Given the description of an element on the screen output the (x, y) to click on. 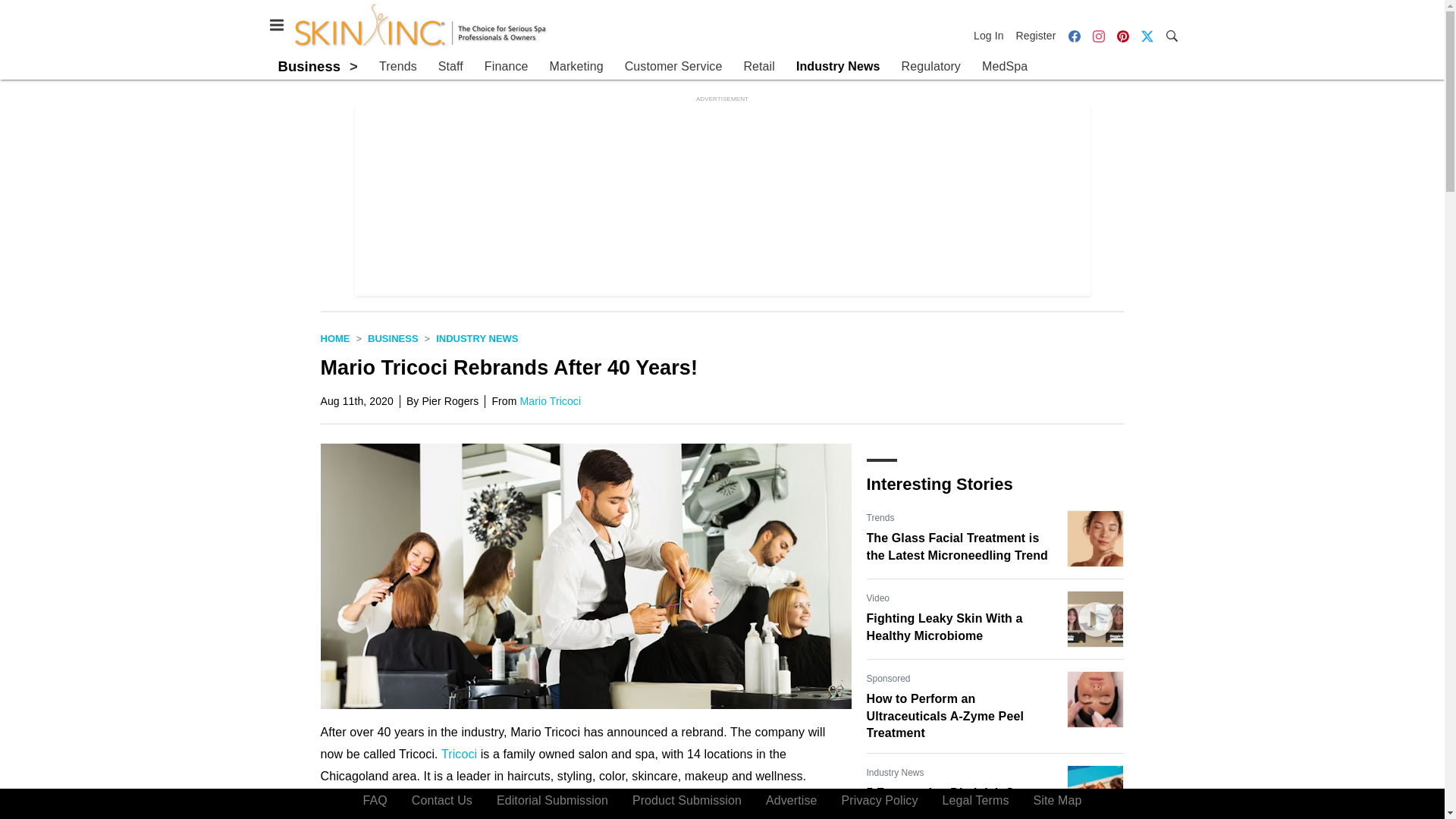
Finance (506, 66)
Staff (450, 66)
Facebook icon (1073, 36)
Log In (992, 35)
Customer Service (673, 66)
Twitter X icon (1146, 36)
Business (309, 65)
Business (392, 337)
Facebook icon (1073, 35)
Industry News (476, 337)
Sponsored (888, 678)
Home (334, 337)
Register (1036, 35)
Industry News (838, 66)
